Given the description of an element on the screen output the (x, y) to click on. 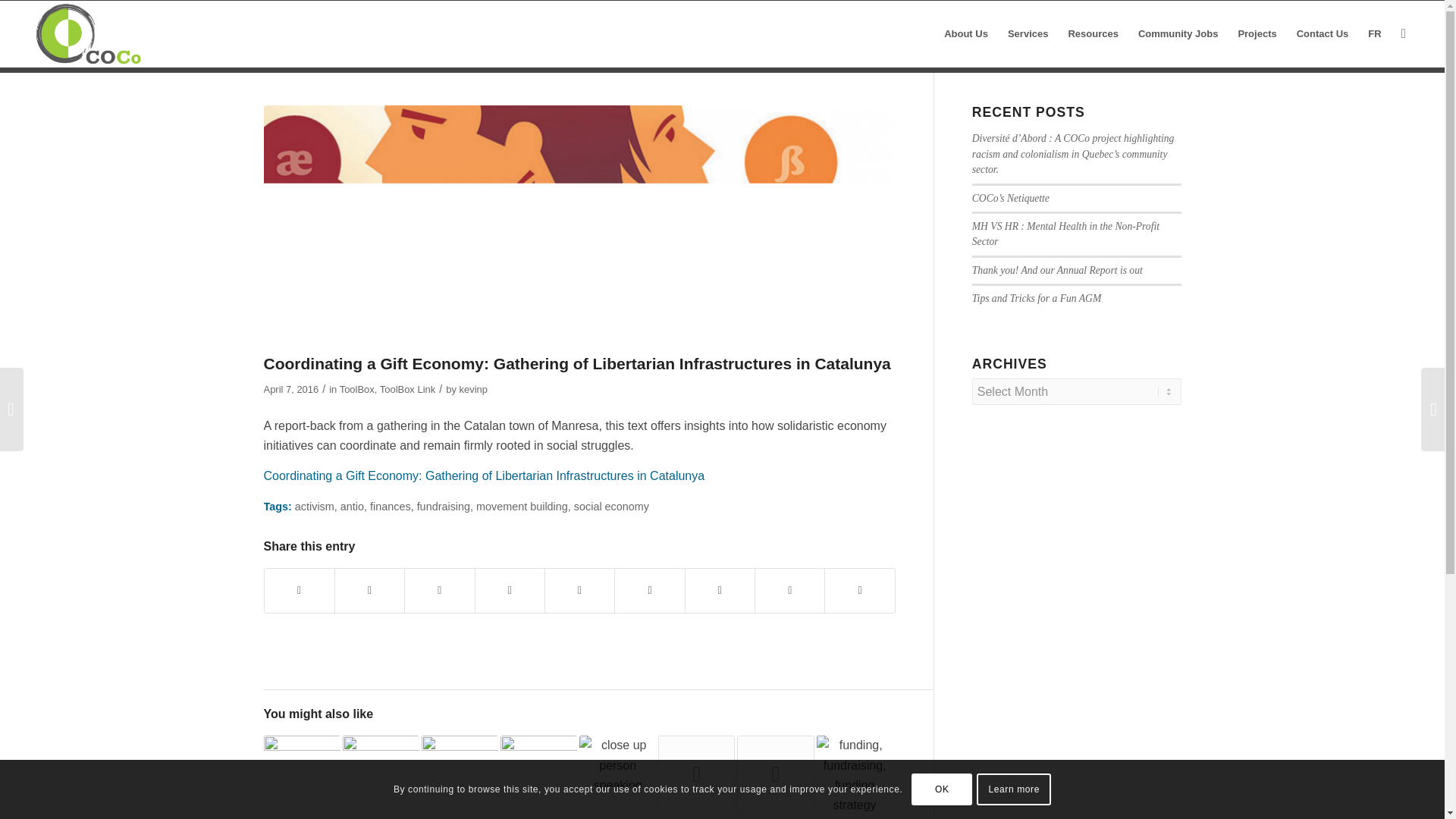
Posts by kevinp (472, 389)
Services (1027, 33)
Resources (1092, 33)
Contact Us (1322, 33)
About Us (965, 33)
Community Jobs (1177, 33)
